Given the description of an element on the screen output the (x, y) to click on. 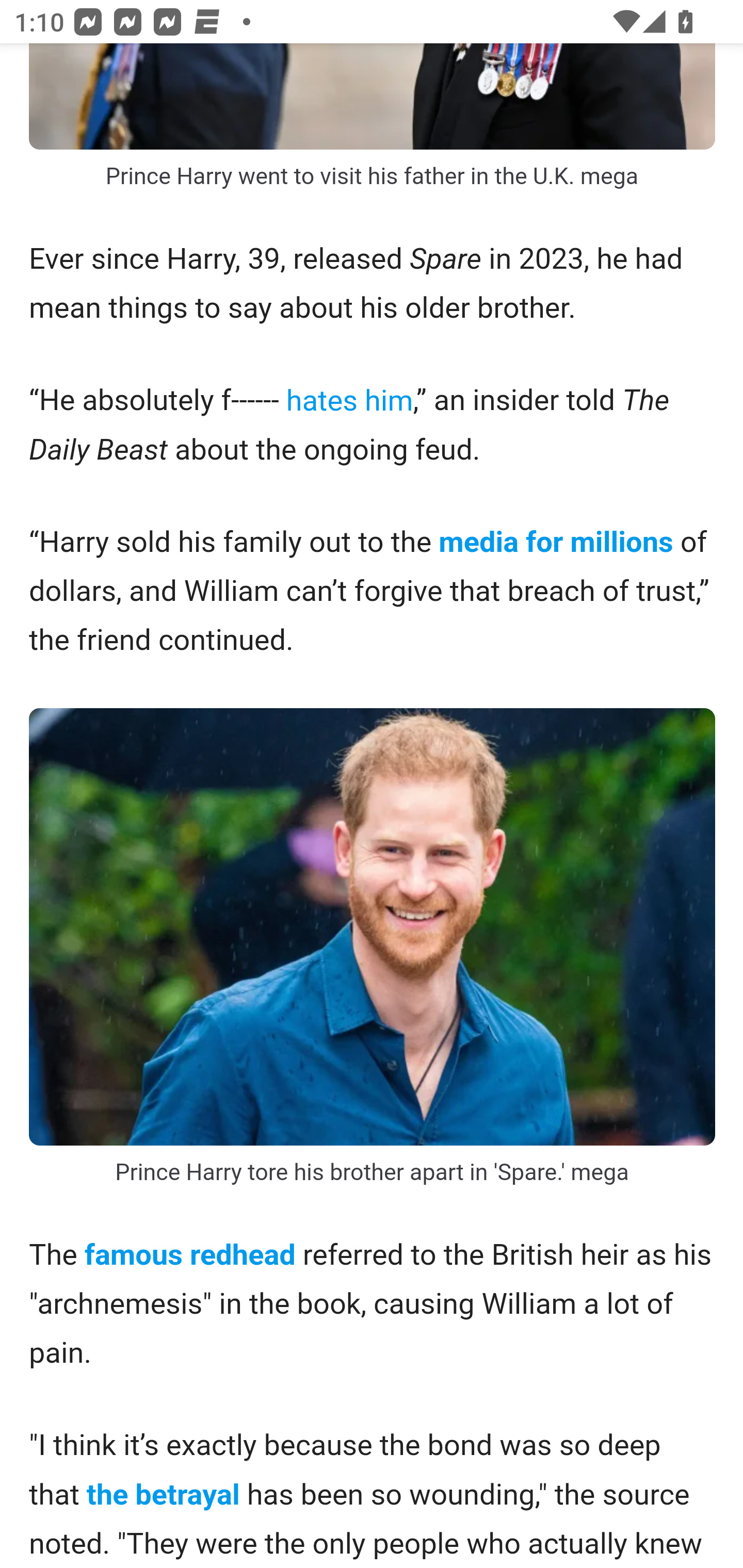
hates him (349, 399)
media for millions (554, 543)
famous redhead (189, 1255)
the betrayal (161, 1495)
